Given the description of an element on the screen output the (x, y) to click on. 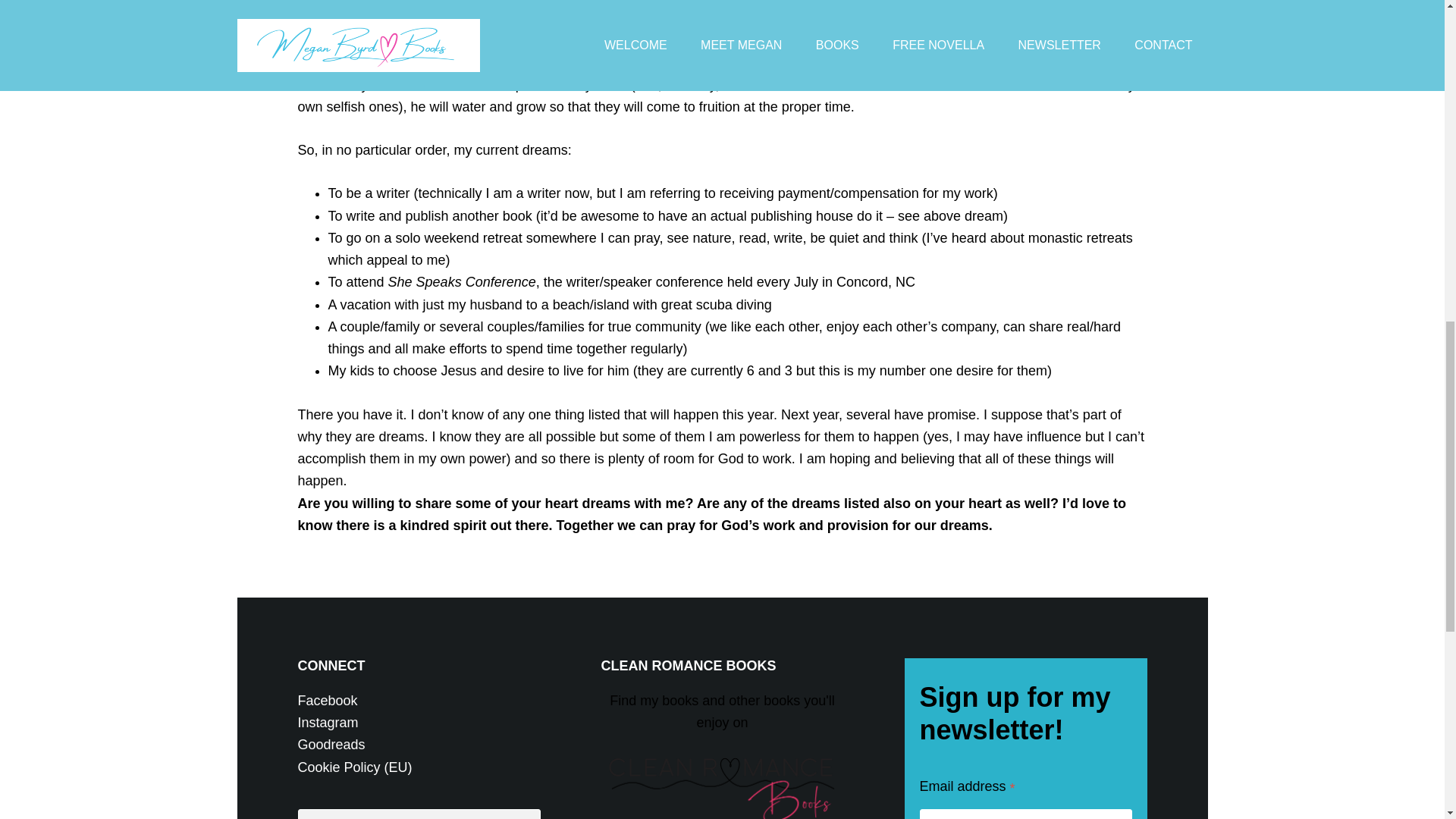
Instagram (327, 722)
Facebook (326, 700)
Goodreads (331, 744)
